Given the description of an element on the screen output the (x, y) to click on. 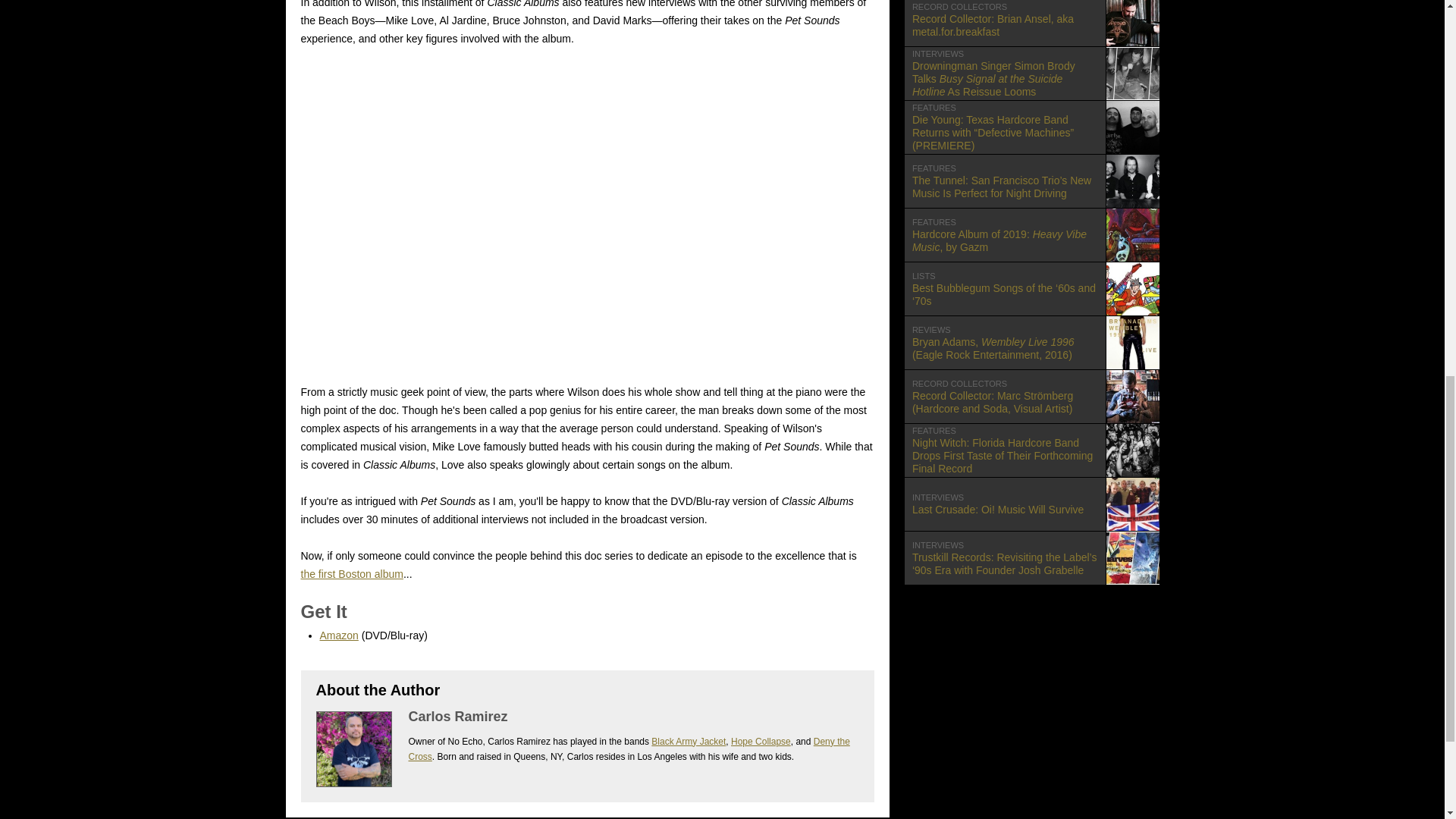
Deny the Cross (1031, 503)
Hope Collapse (627, 749)
Black Army Jacket (1031, 234)
the first Boston album (760, 741)
Amazon (687, 741)
